Given the description of an element on the screen output the (x, y) to click on. 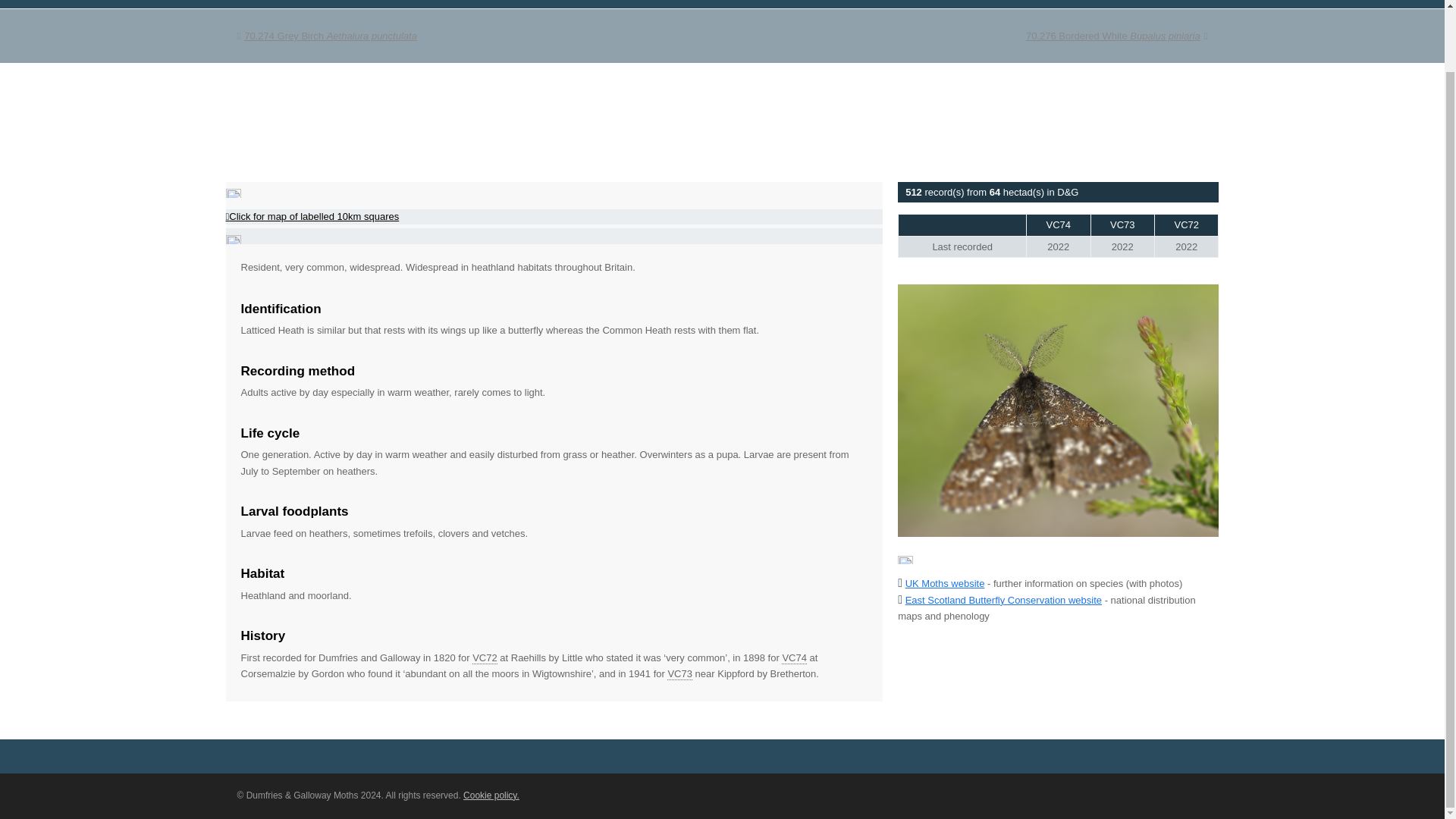
Click for map of labelled 10km squares (311, 215)
